Given the description of an element on the screen output the (x, y) to click on. 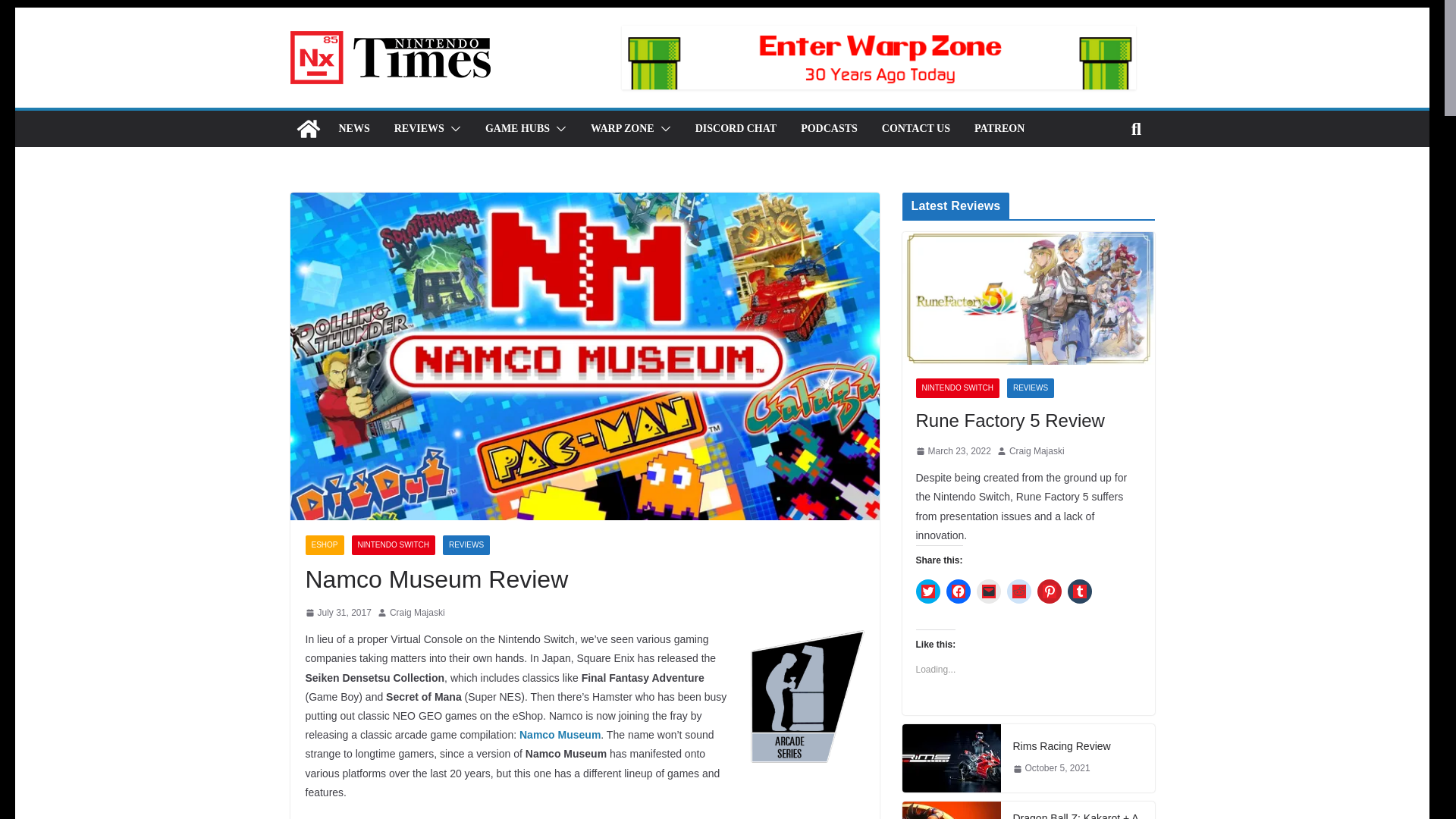
NEWS (353, 128)
NINTENDO SWITCH (393, 545)
Craig Majaski (417, 613)
REVIEWS (419, 128)
ESHOP (323, 545)
PATREON (999, 128)
DISCORD CHAT (735, 128)
July 31, 2017 (337, 613)
CONTACT US (916, 128)
9:00 AM (337, 613)
REVIEWS (465, 545)
PODCASTS (828, 128)
WARP ZONE (622, 128)
Craig Majaski (417, 613)
